Given the description of an element on the screen output the (x, y) to click on. 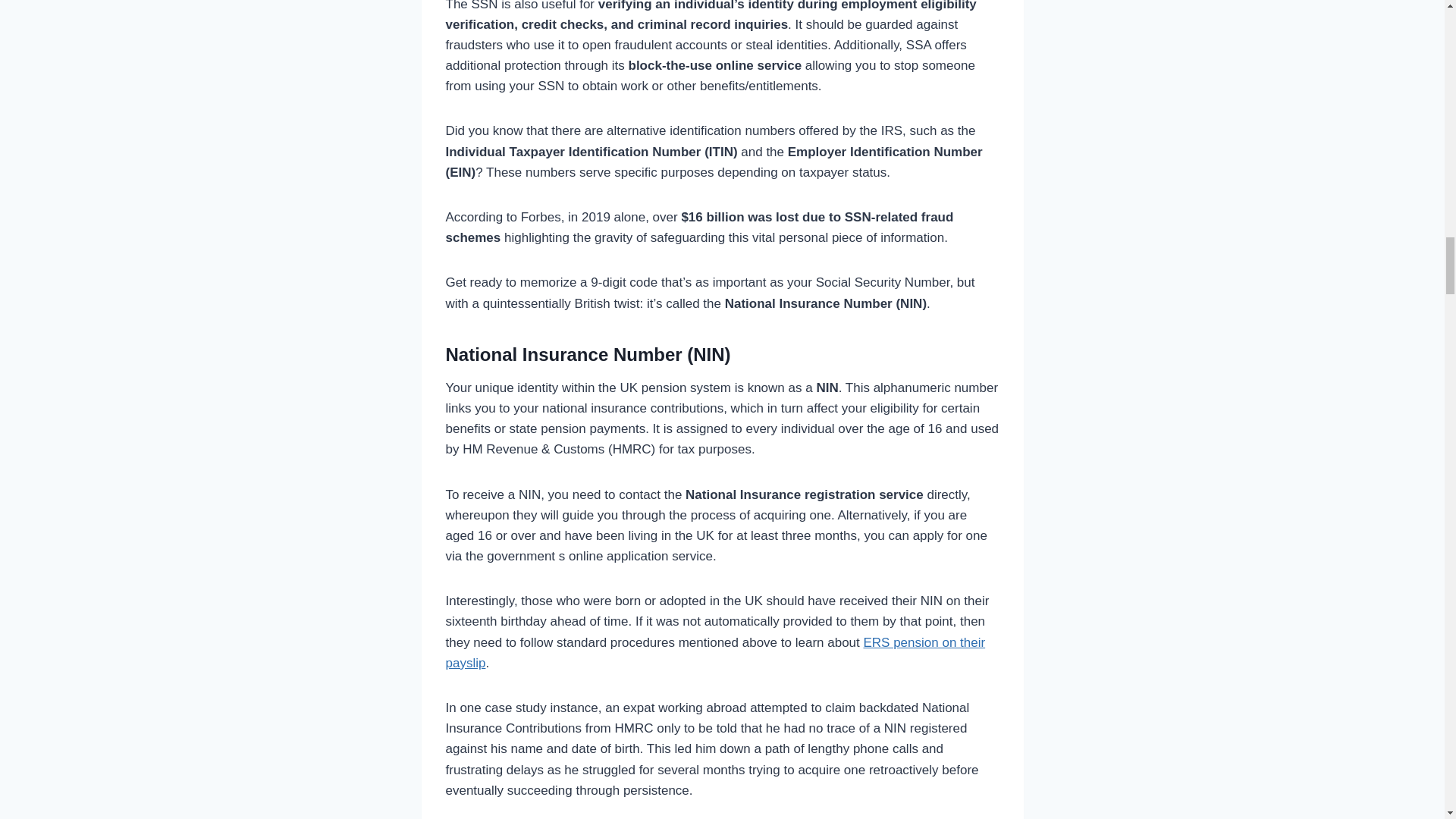
ERS pension on their payslip (715, 652)
